Given the description of an element on the screen output the (x, y) to click on. 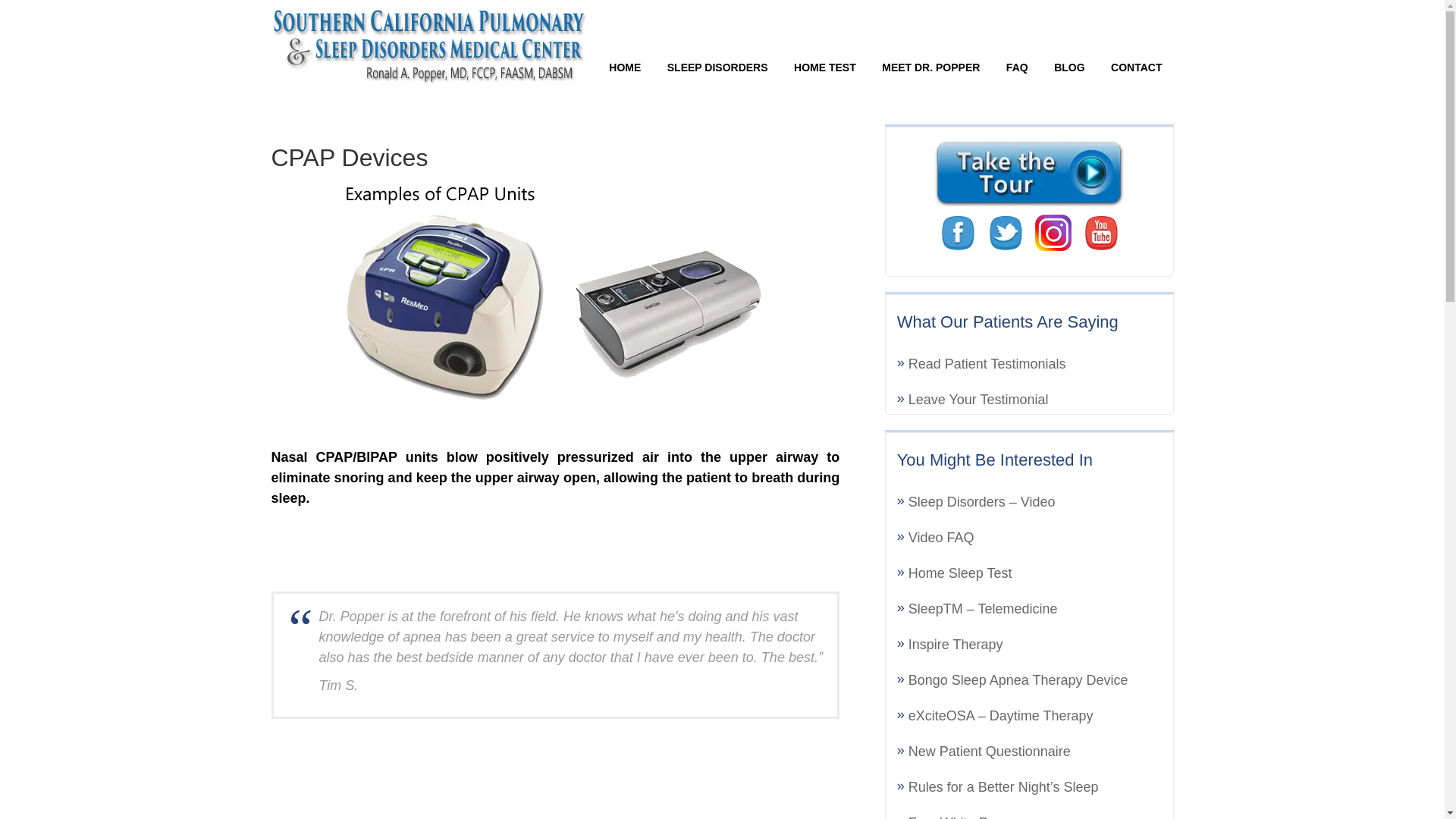
SLEEP DISORDERS (717, 67)
BLOG (1069, 67)
Home Sleep Test (959, 572)
Read Patient Testimonials (986, 363)
Leave Your Testimonial (978, 399)
FAQ (1016, 67)
CONTACT (1135, 67)
Video FAQ (941, 537)
Subscribe to Dr. Popper's Youtube Channel (1101, 232)
MEET DR. POPPER (930, 67)
